Given the description of an element on the screen output the (x, y) to click on. 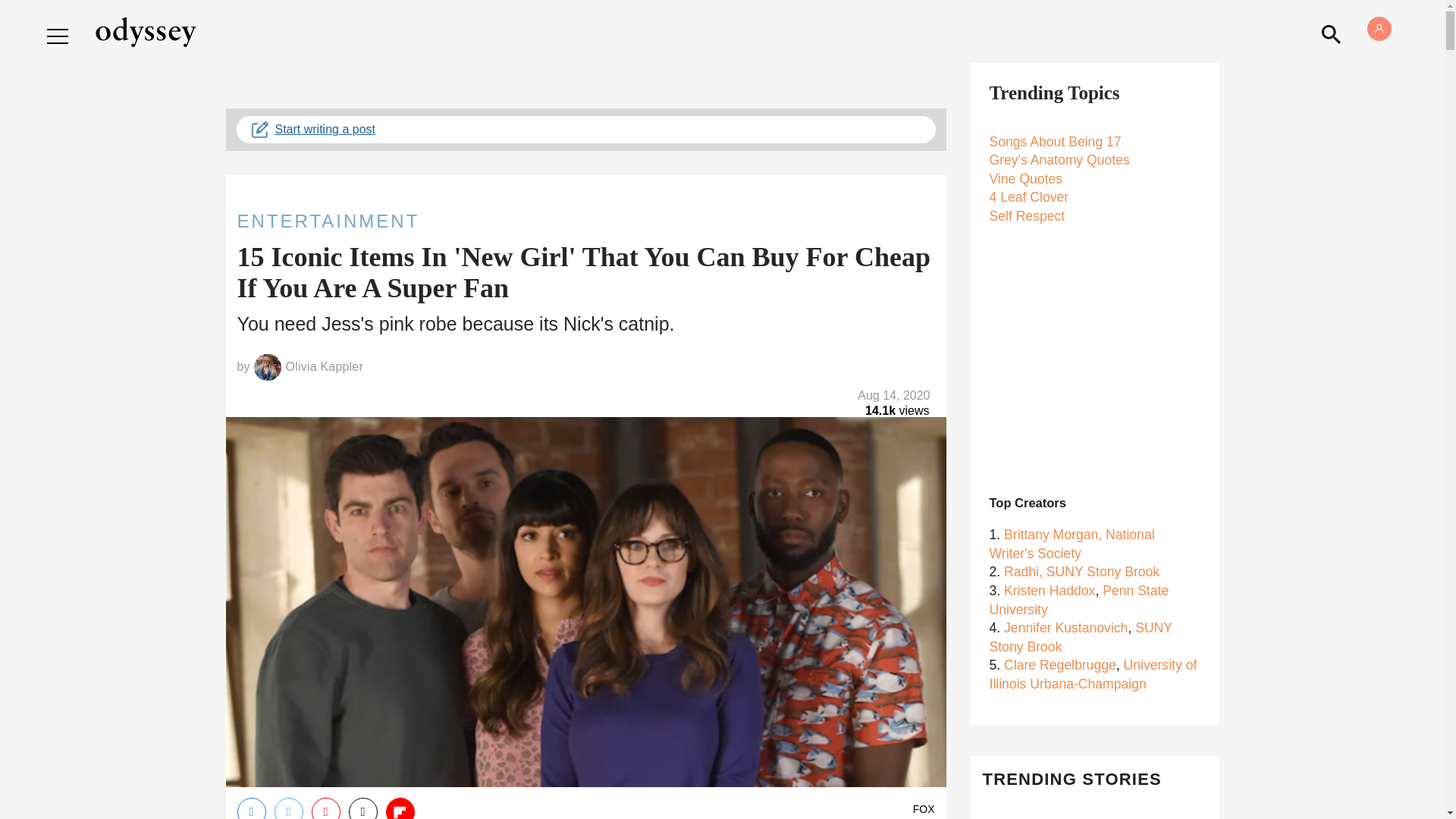
Start writing a post (585, 129)
ENTERTAINMENT (584, 221)
Olivia Kappler (323, 366)
